Given the description of an element on the screen output the (x, y) to click on. 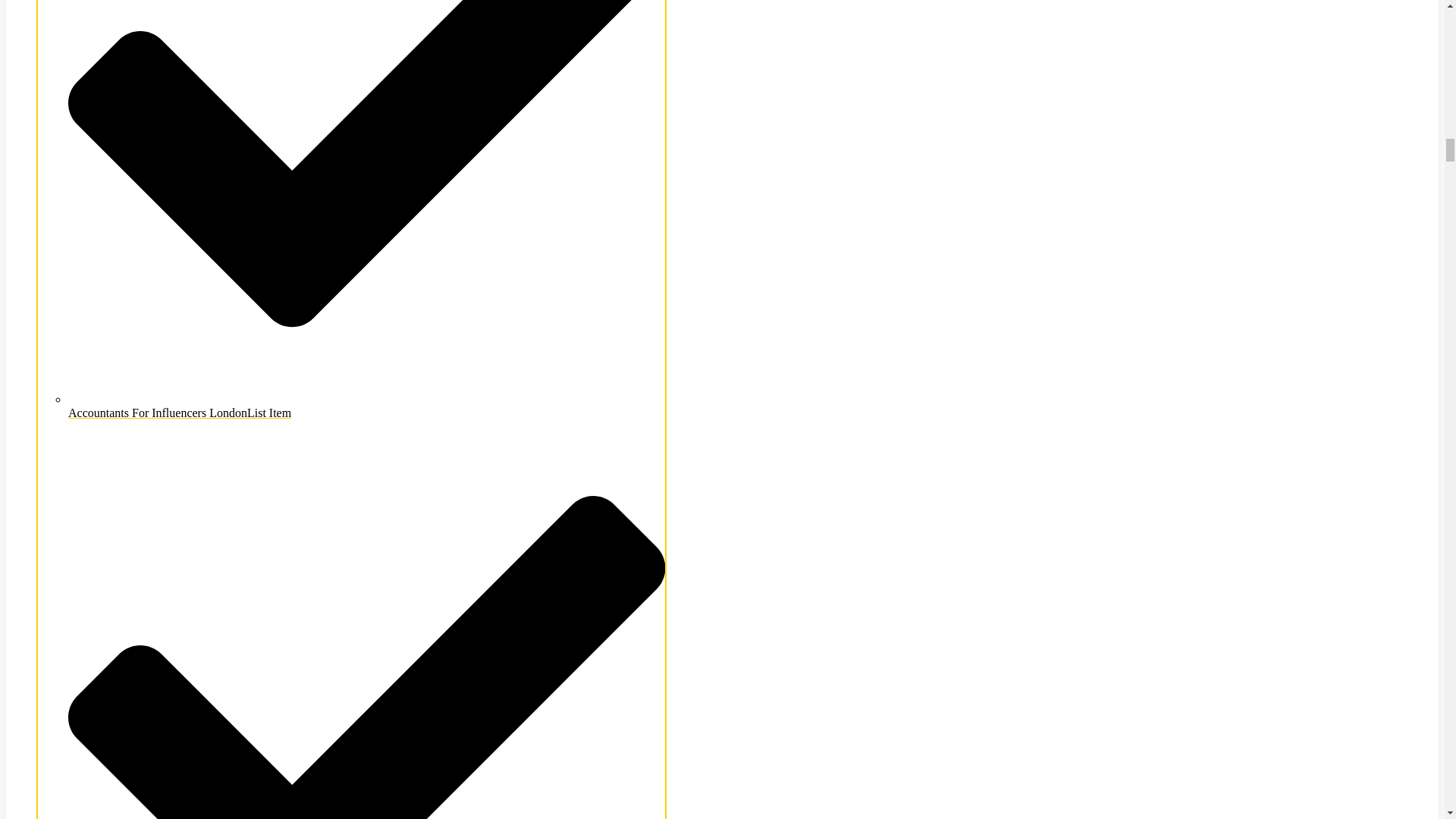
Accountants For Influencers LondonList Item (366, 406)
